Given the description of an element on the screen output the (x, y) to click on. 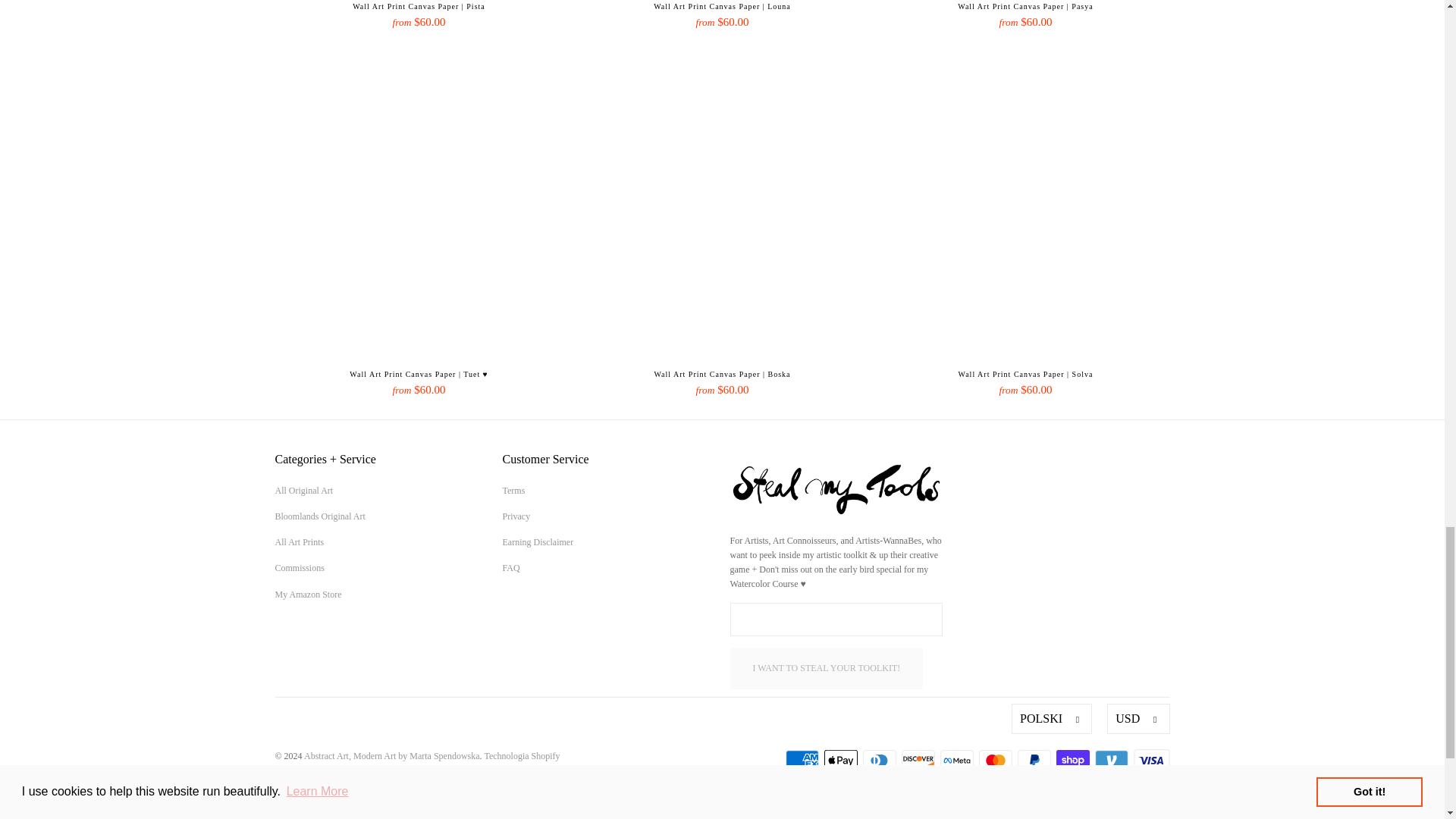
Diners Club (881, 760)
Apple Pay (842, 760)
Venmo (1112, 760)
PayPal (1035, 760)
Shop Pay (1073, 760)
Mastercard (996, 760)
Discover (919, 760)
Visa (1150, 760)
American Express (804, 760)
Meta Pay (958, 760)
